Given the description of an element on the screen output the (x, y) to click on. 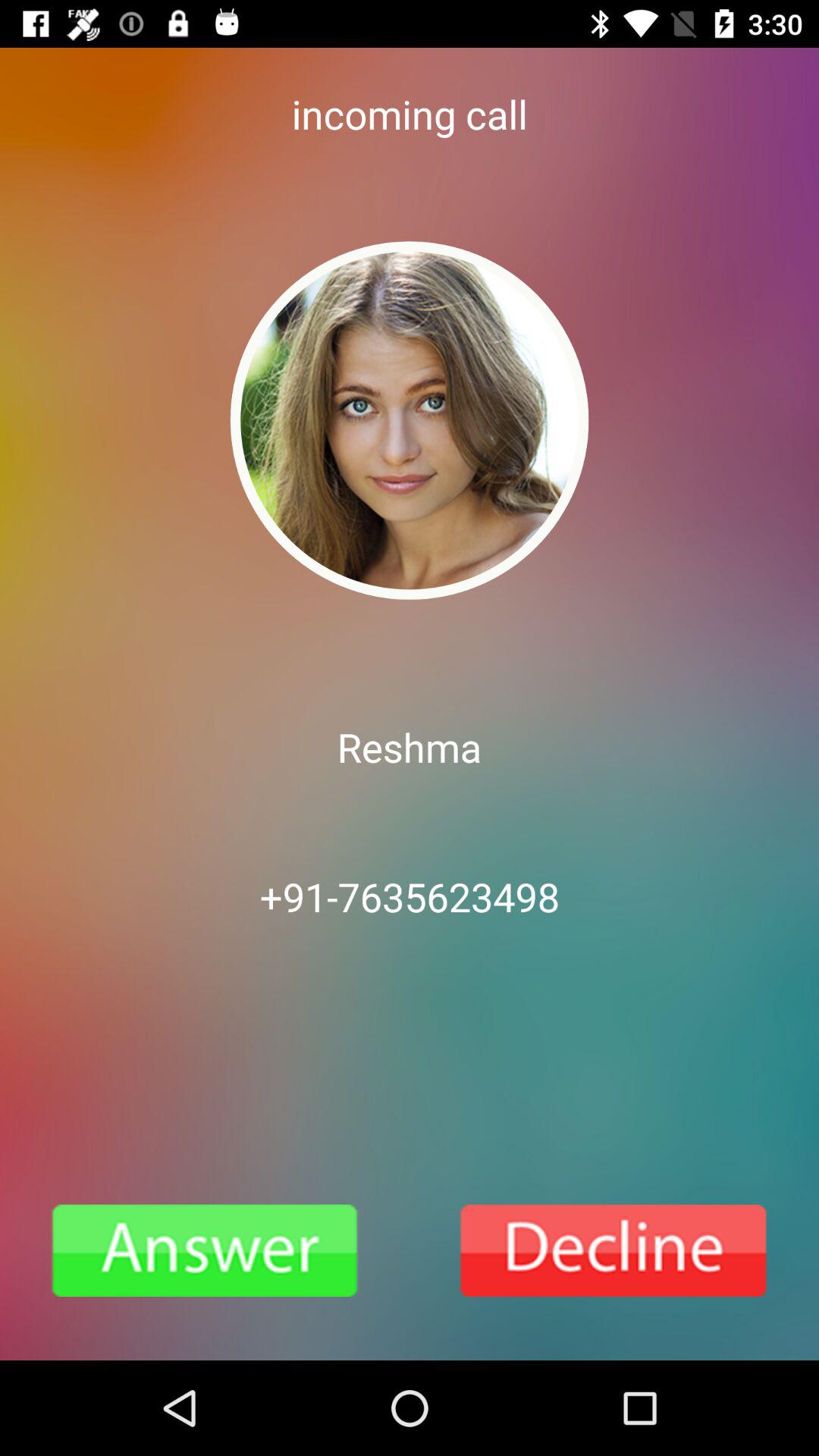
decline call (614, 1250)
